Given the description of an element on the screen output the (x, y) to click on. 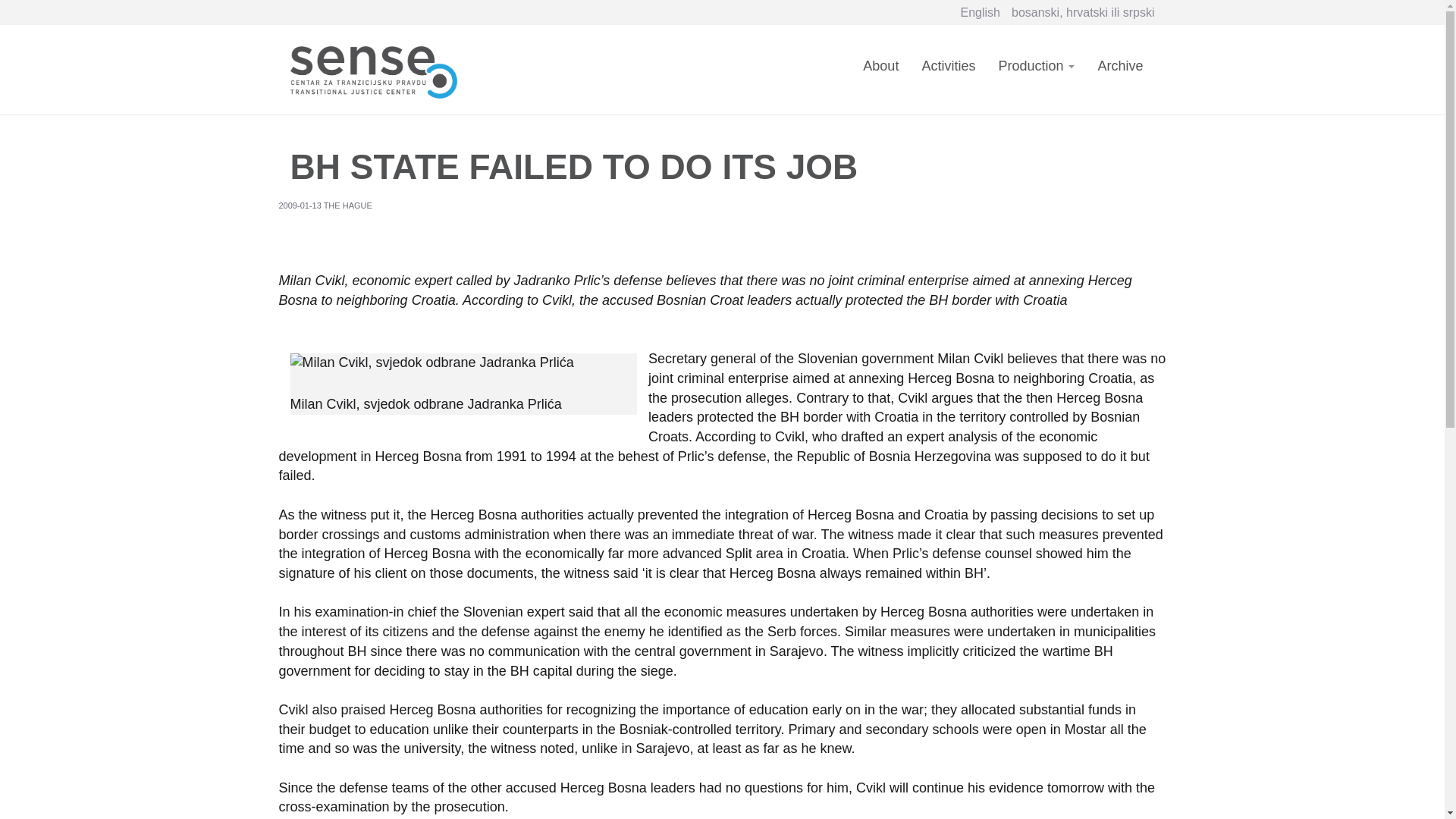
English (980, 11)
Home (378, 69)
Activities (948, 75)
bosanski, hrvatski ili srpski (1082, 11)
About the SENSE Center (880, 75)
Archive (1120, 75)
About (880, 75)
Production (1036, 75)
